Given the description of an element on the screen output the (x, y) to click on. 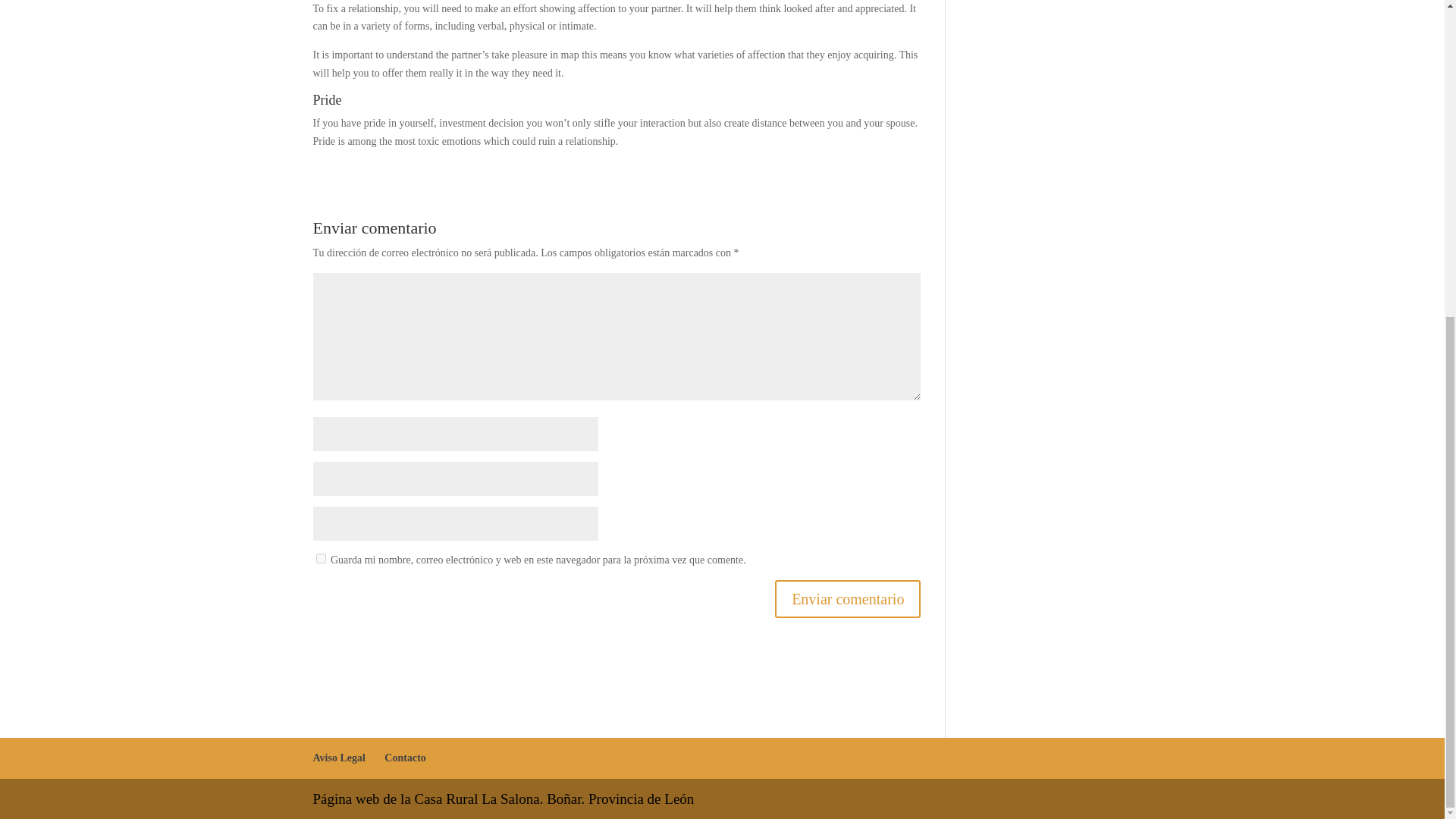
yes (319, 558)
Aviso Legal (339, 757)
Enviar comentario (847, 598)
Enviar comentario (847, 598)
Contacto (404, 757)
